Given the description of an element on the screen output the (x, y) to click on. 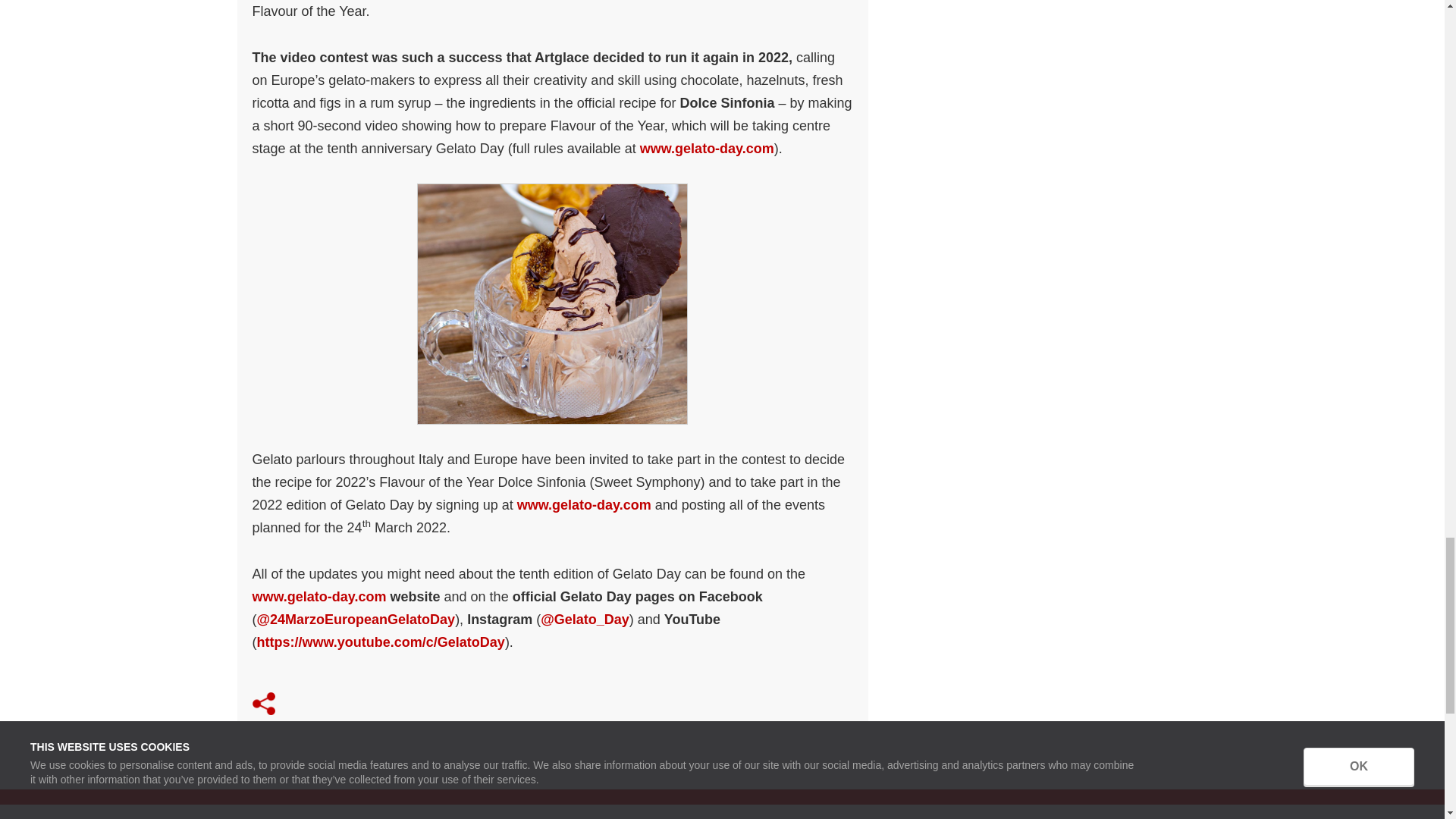
www.gelato-day.com (583, 504)
www.gelato-day.com (707, 148)
www.gelato-day.com (318, 596)
